Given the description of an element on the screen output the (x, y) to click on. 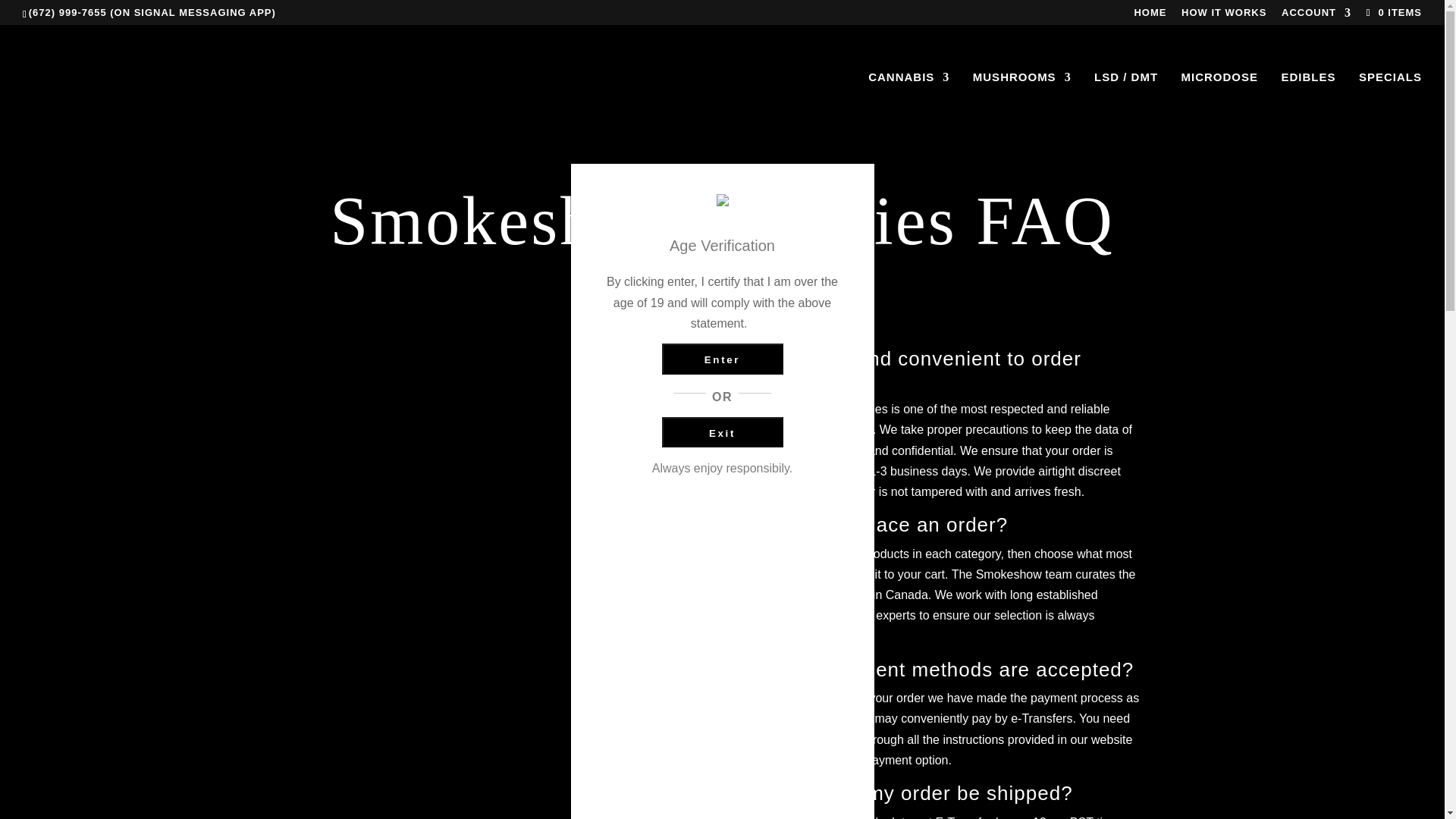
MUSHROOMS (1021, 99)
0 ITEMS (1392, 12)
CANNABIS (908, 99)
MICRODOSE (1219, 99)
ACCOUNT (1316, 16)
HOME (1150, 16)
HOW IT WORKS (1223, 16)
EDIBLES (1308, 99)
SPECIALS (1390, 99)
